Given the description of an element on the screen output the (x, y) to click on. 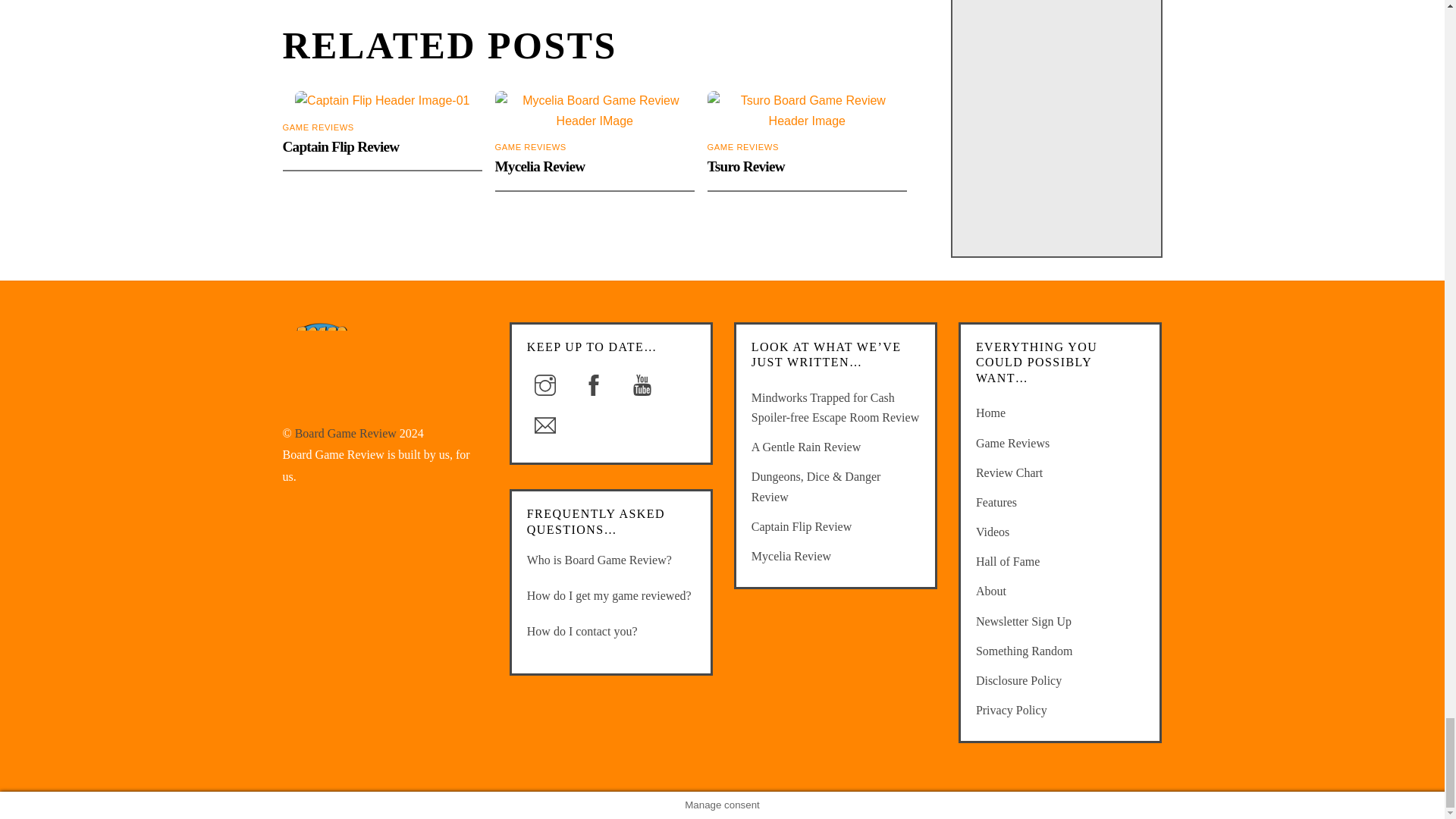
Mycelia Board Game Review Header IMage (595, 110)
Captain Flip Header Image-01 (381, 100)
GAME REVIEWS (317, 126)
Tsuro Board Game Review Header Image (807, 110)
Captain Flip Review (340, 146)
GAME REVIEWS (530, 146)
